Given the description of an element on the screen output the (x, y) to click on. 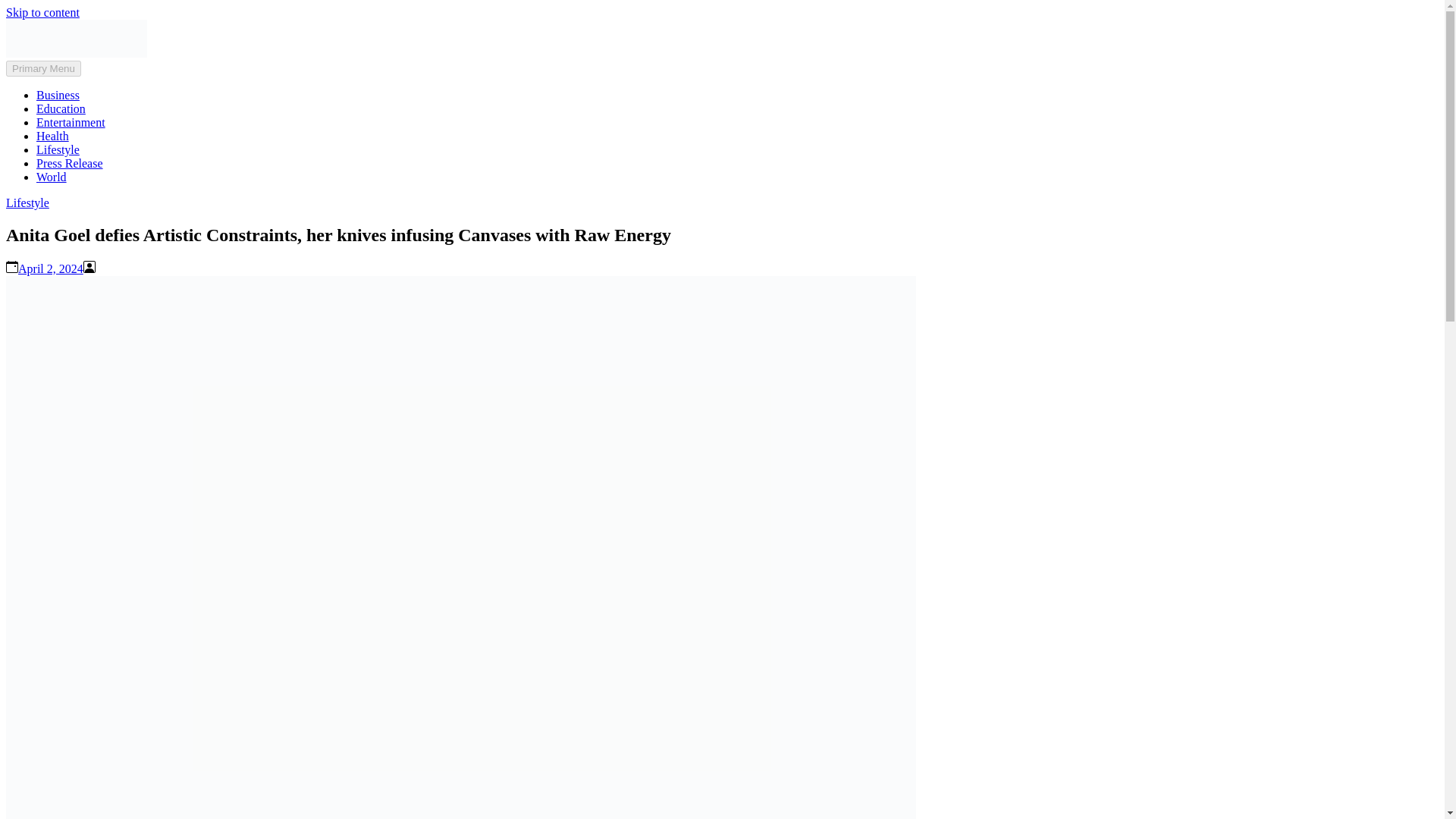
Skip to content (42, 11)
World (51, 176)
Lifestyle (58, 149)
Business (58, 94)
Primary Menu (43, 68)
Lifestyle (27, 202)
Entertainment (70, 122)
Health (52, 135)
April 2, 2024 (49, 268)
BNI India (30, 78)
Press Release (69, 163)
Education (60, 108)
